Given the description of an element on the screen output the (x, y) to click on. 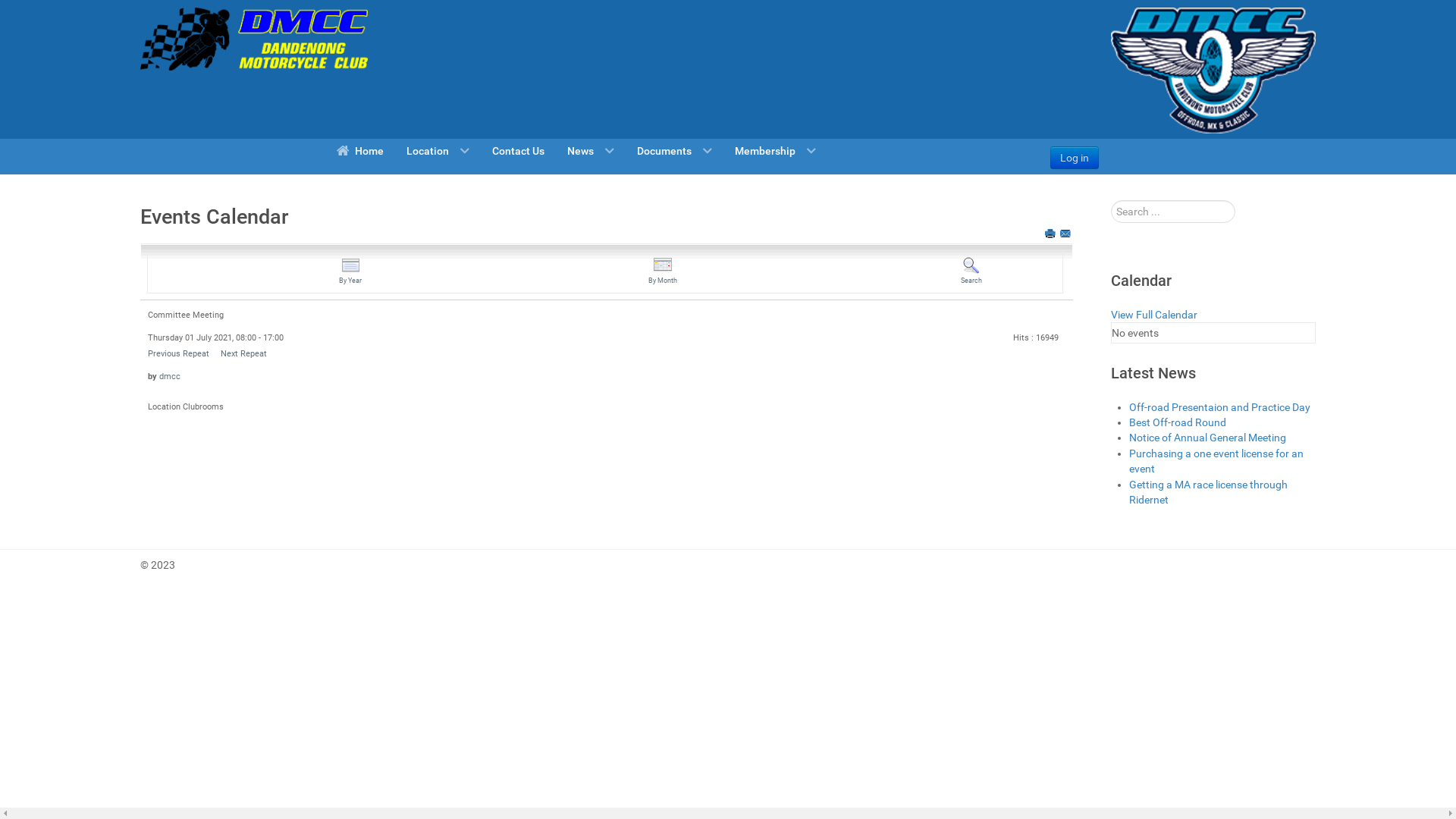
Home Element type: text (359, 149)
Print Element type: hover (1050, 233)
Next Repeat Element type: text (243, 353)
Notice of Annual General Meeting Element type: text (1207, 437)
Contact Us Element type: text (517, 149)
Location Element type: text (437, 149)
Documents Element type: text (674, 149)
Getting a MA race license through Ridernet Element type: text (1208, 491)
View Full Calendar Element type: text (1153, 314)
Search Element type: text (971, 271)
By Year Element type: text (349, 271)
Best Off-road Round Element type: text (1177, 422)
EMAIL Element type: hover (1066, 233)
Previous Repeat Element type: text (178, 353)
Off-road Presentaion and Practice Day Element type: text (1219, 407)
News Element type: text (590, 149)
Gantry 5 Element type: hover (1212, 70)
Log in Element type: text (1074, 157)
By Month Element type: text (662, 271)
dmcc Element type: text (169, 376)
Purchasing a one event license for an event Element type: text (1216, 460)
Gantry 5 Element type: hover (253, 38)
